Given the description of an element on the screen output the (x, y) to click on. 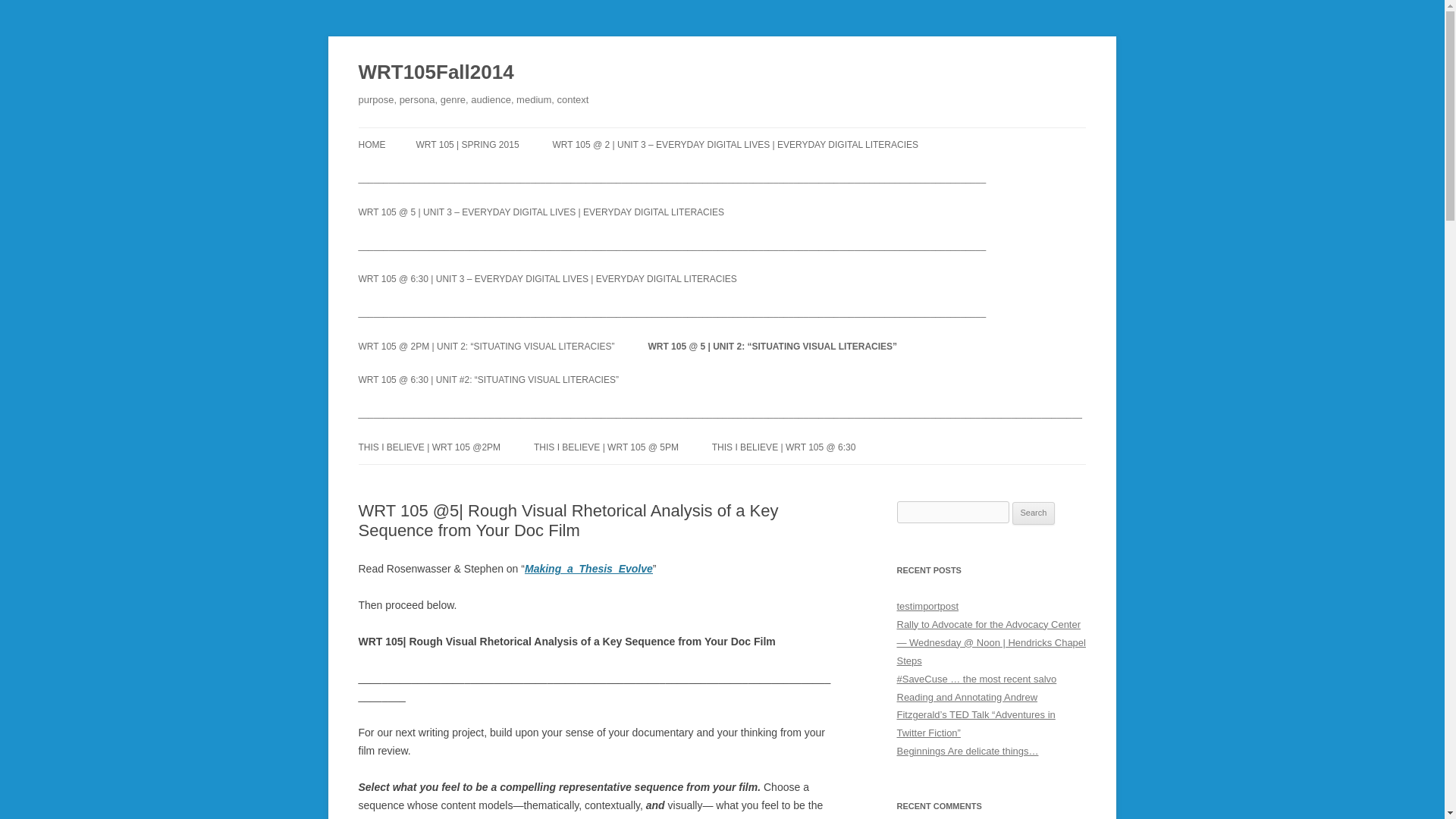
Search (1033, 513)
WRT105Fall2014 (435, 72)
